Given the description of an element on the screen output the (x, y) to click on. 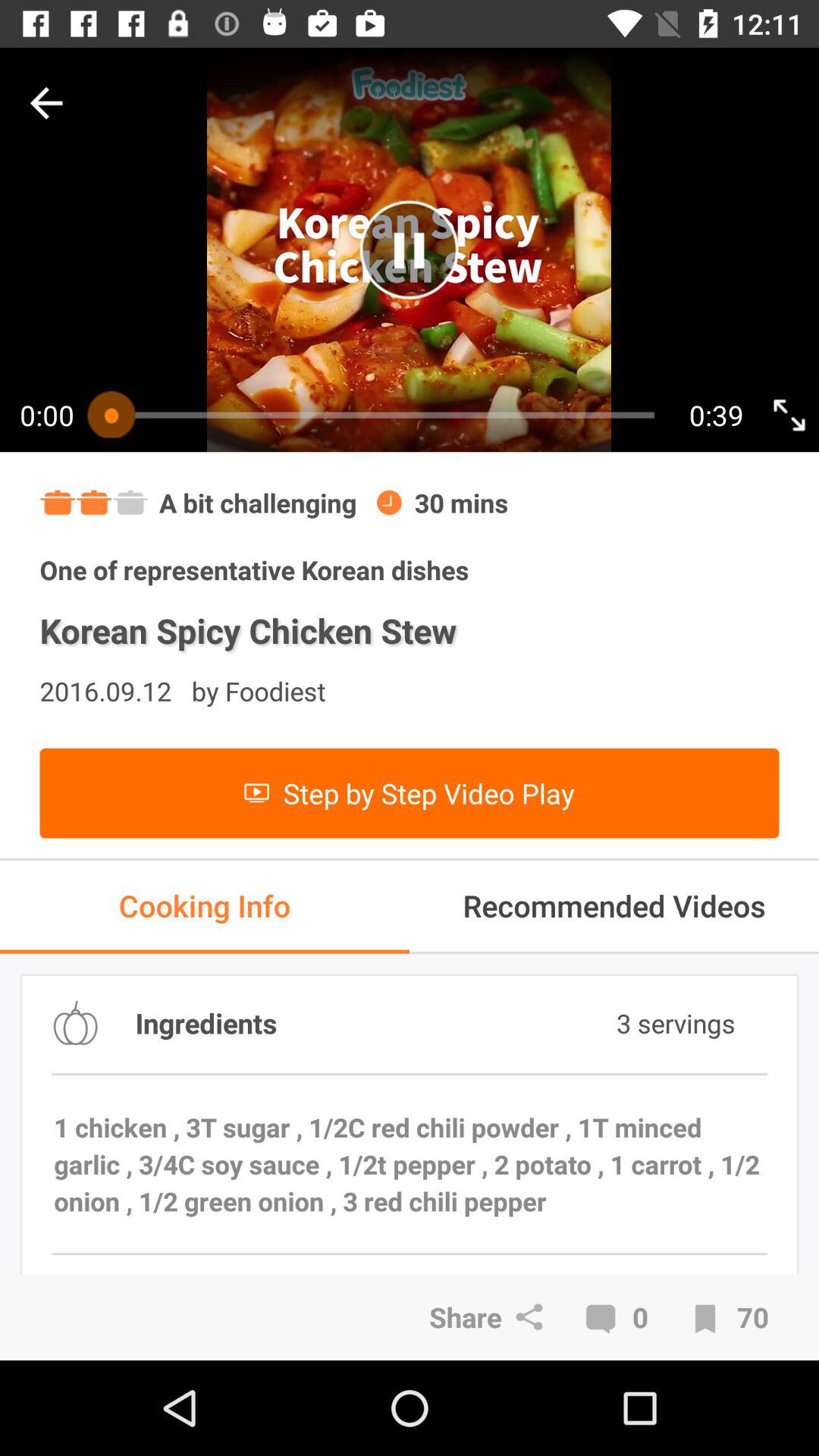
play (408, 249)
